Given the description of an element on the screen output the (x, y) to click on. 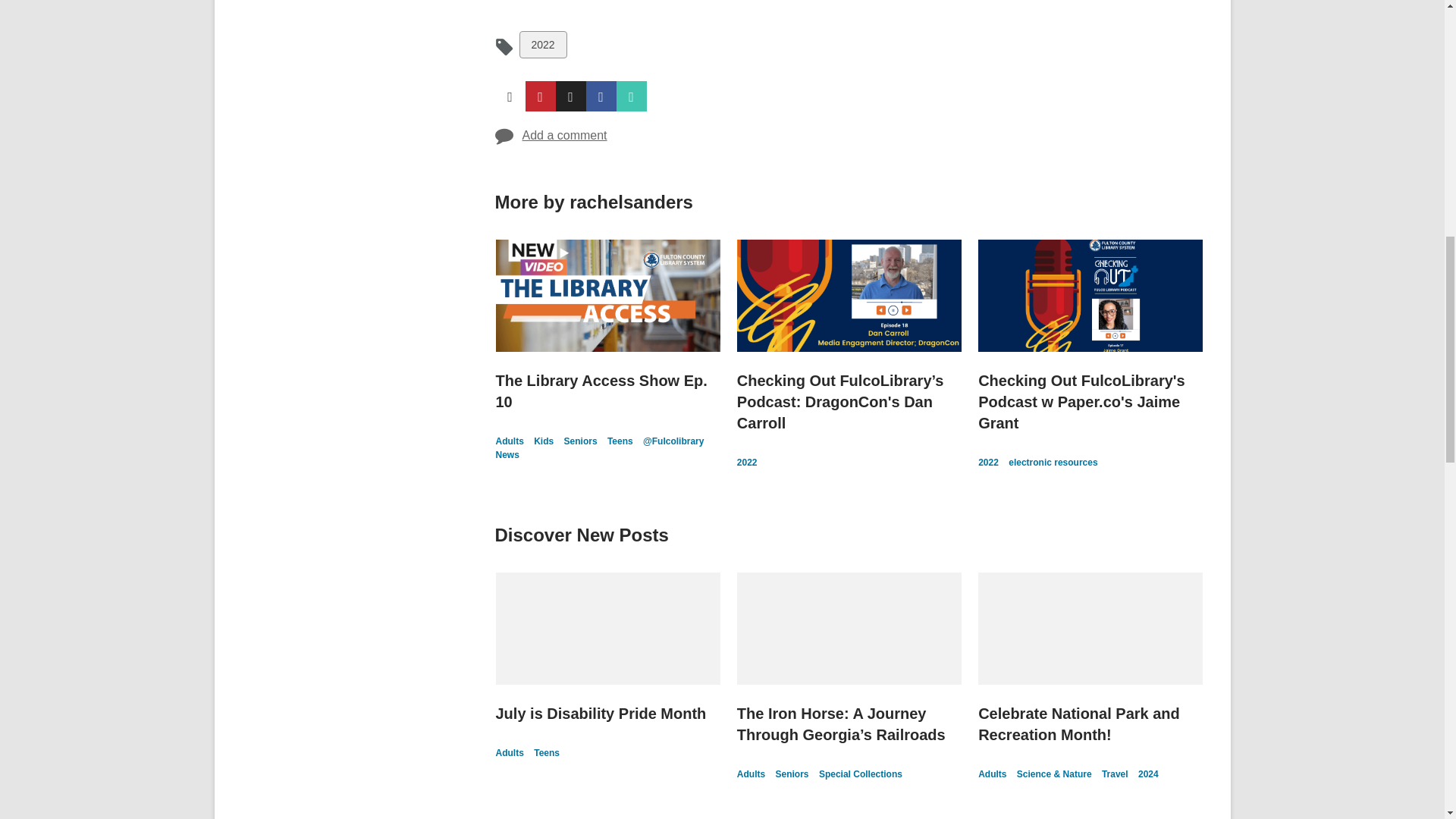
YouTube video player (706, 3)
